Given the description of an element on the screen output the (x, y) to click on. 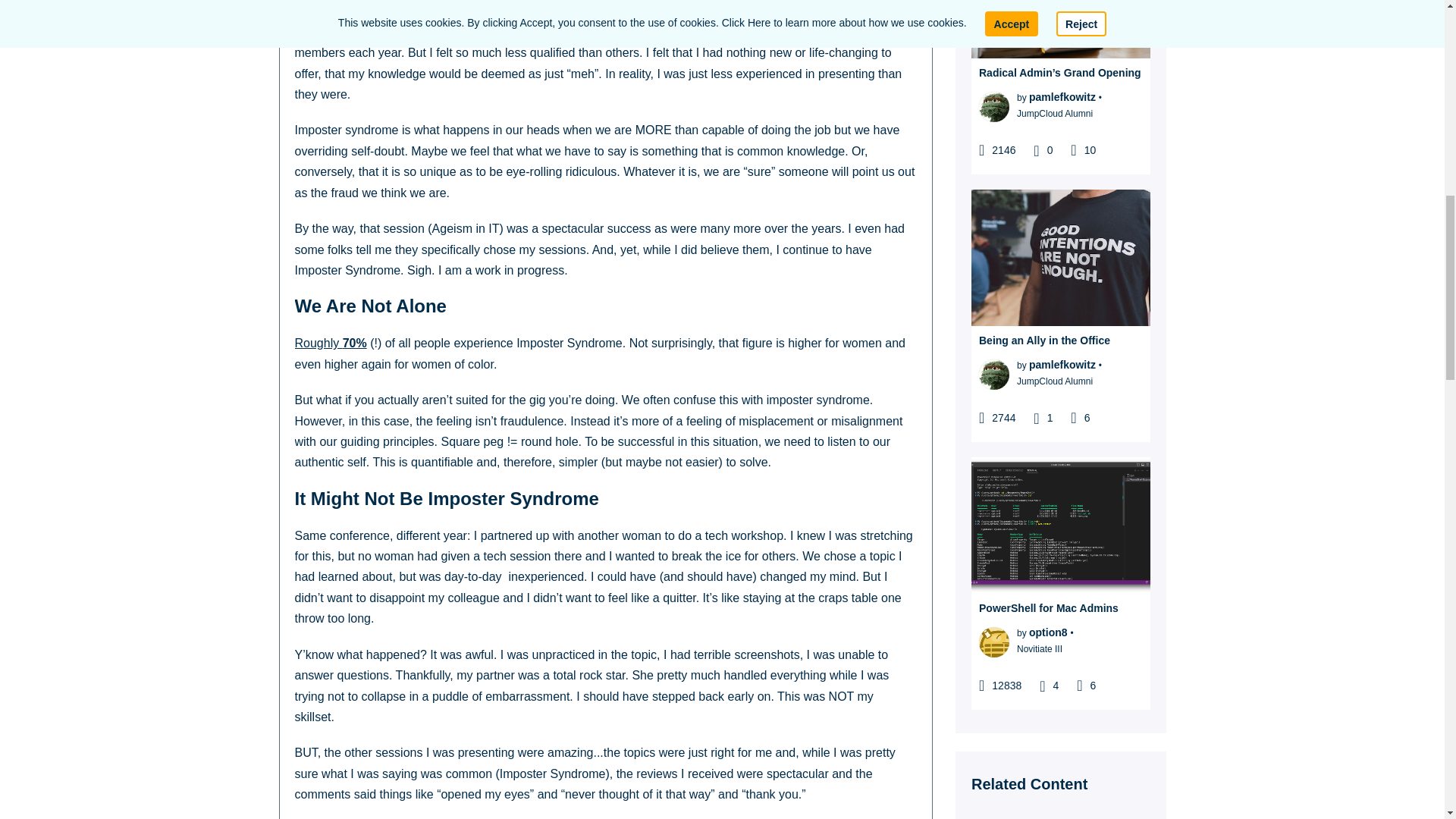
View profile (1062, 96)
View article (1060, 29)
View profile (993, 104)
View article (1060, 257)
